Given the description of an element on the screen output the (x, y) to click on. 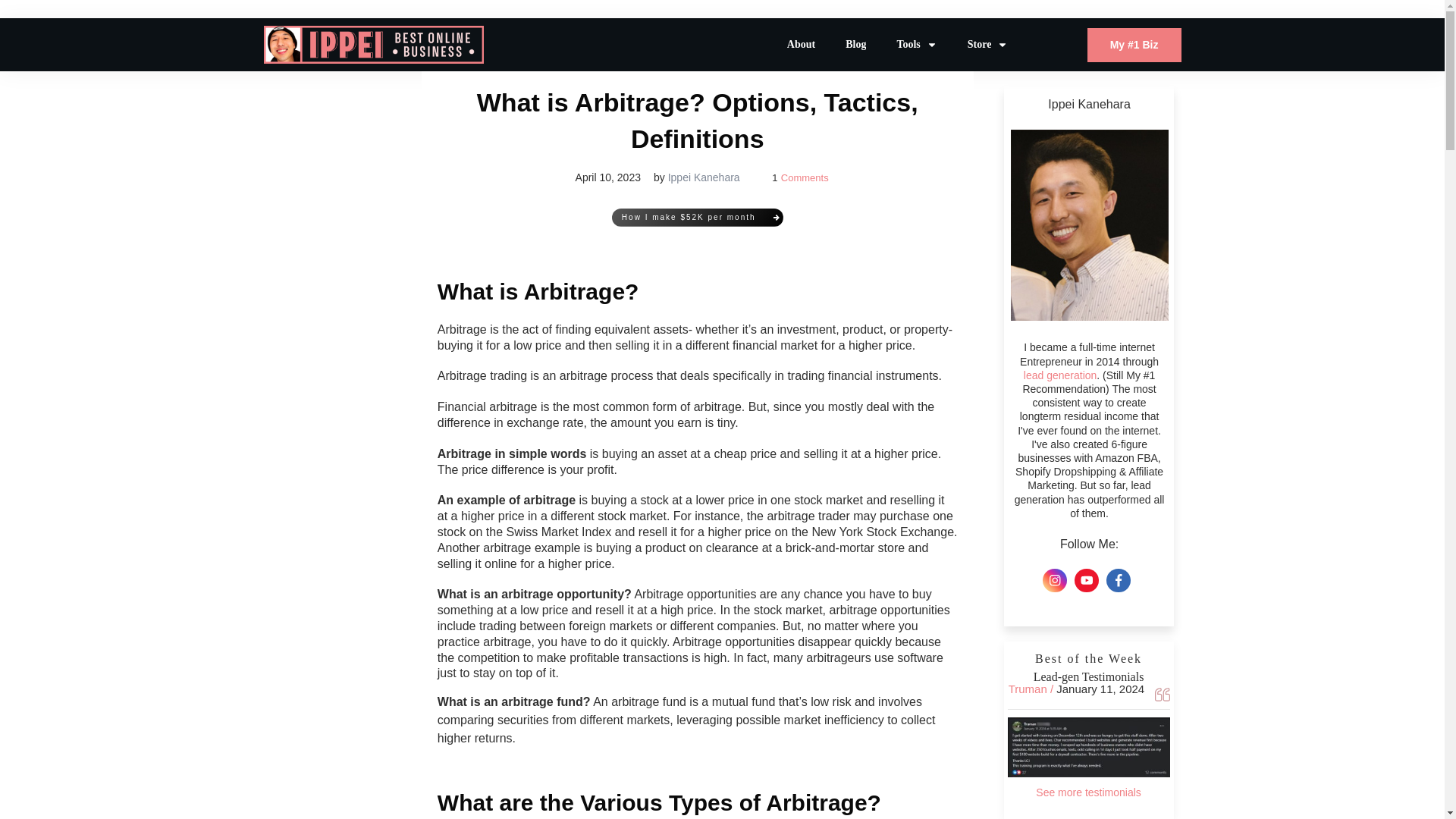
Ippei Kanehara (703, 177)
Tools (916, 44)
lead generation (1060, 375)
See more testimonials (1088, 792)
About (801, 44)
Comments (804, 177)
Ippei Kanehara (703, 177)
Comments (804, 177)
01-11-2024-am-05-29-trady (1088, 747)
Blog (855, 44)
Store (988, 44)
